Given the description of an element on the screen output the (x, y) to click on. 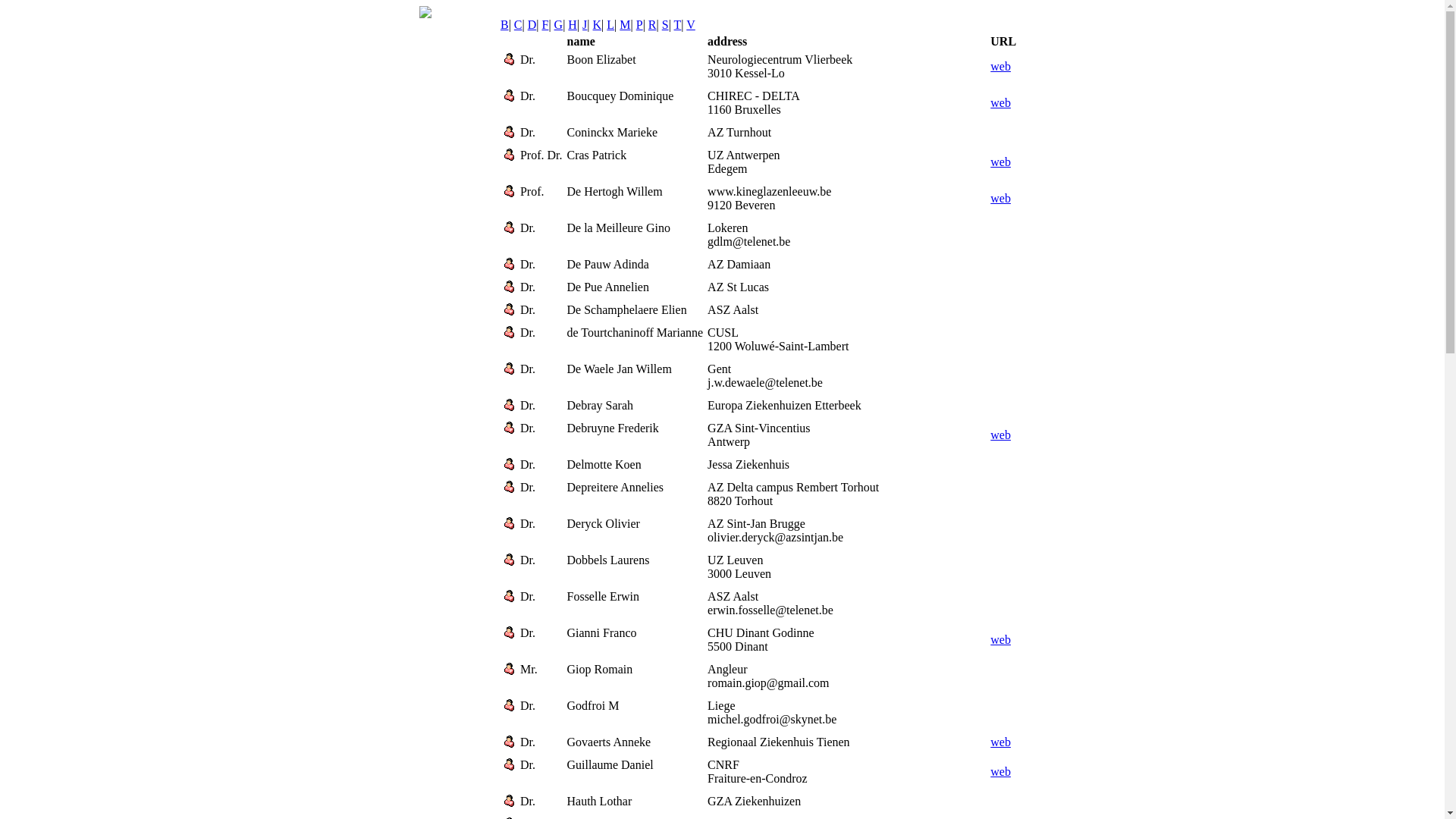
B Element type: text (504, 24)
web Element type: text (1000, 639)
D Element type: text (531, 24)
web Element type: text (1000, 102)
V Element type: text (690, 24)
K Element type: text (597, 24)
M Element type: text (624, 24)
web Element type: text (1000, 197)
P Element type: text (639, 24)
web Element type: text (1000, 65)
web Element type: text (1000, 771)
R Element type: text (652, 24)
web Element type: text (1000, 434)
web Element type: text (1000, 161)
G Element type: text (558, 24)
F Element type: text (544, 24)
T Element type: text (677, 24)
web Element type: text (1000, 741)
S Element type: text (665, 24)
L Element type: text (610, 24)
J Element type: text (584, 24)
C Element type: text (518, 24)
H Element type: text (572, 24)
